Given the description of an element on the screen output the (x, y) to click on. 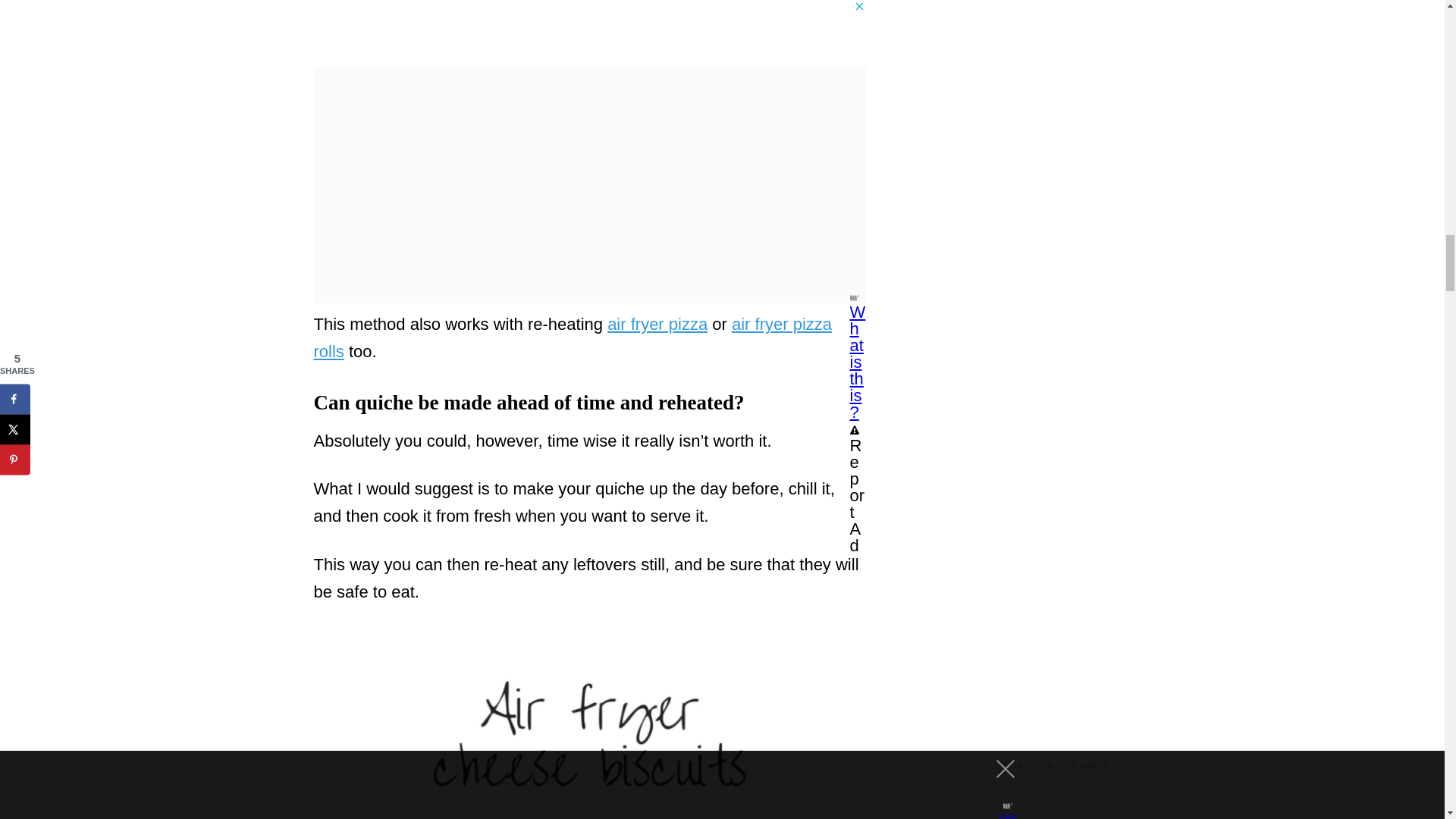
3rd party ad content (590, 18)
